Given the description of an element on the screen output the (x, y) to click on. 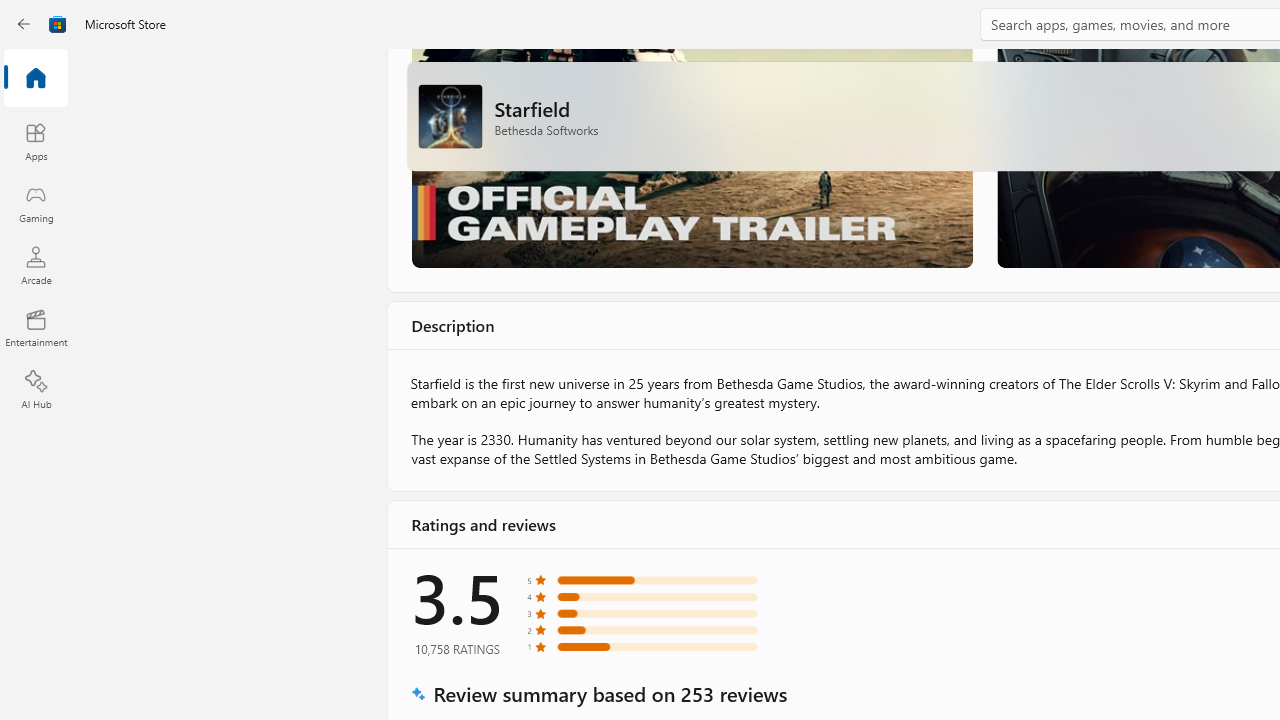
Gameplay Trailer (690, 157)
Back (24, 24)
